Given the description of an element on the screen output the (x, y) to click on. 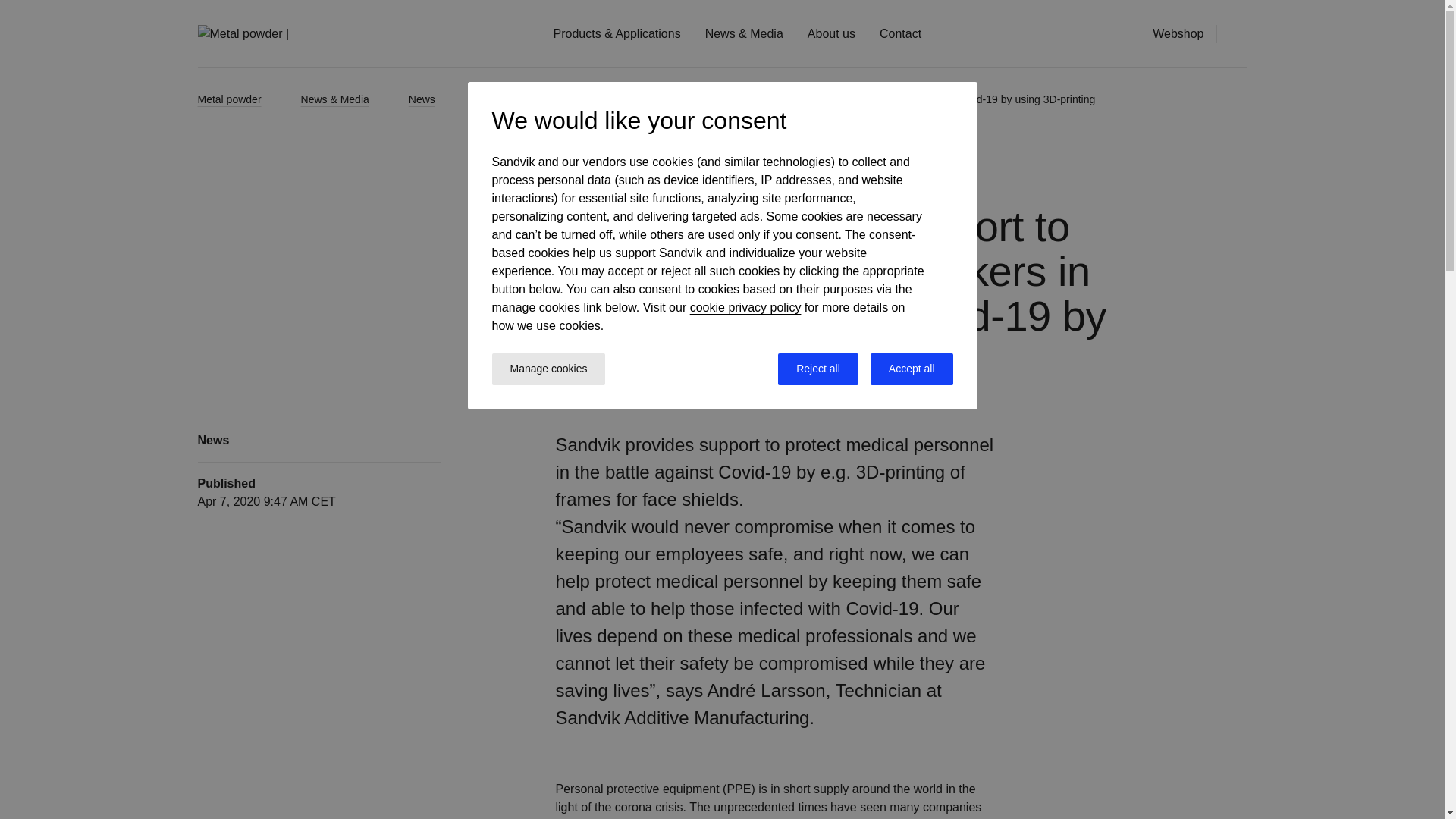
Contact (900, 33)
Webshop (1178, 33)
2020 (499, 99)
About us (832, 33)
April (561, 99)
Accept all (911, 368)
News (436, 99)
Manage cookies (548, 368)
Metal powder (242, 99)
Reject all (818, 368)
